Given the description of an element on the screen output the (x, y) to click on. 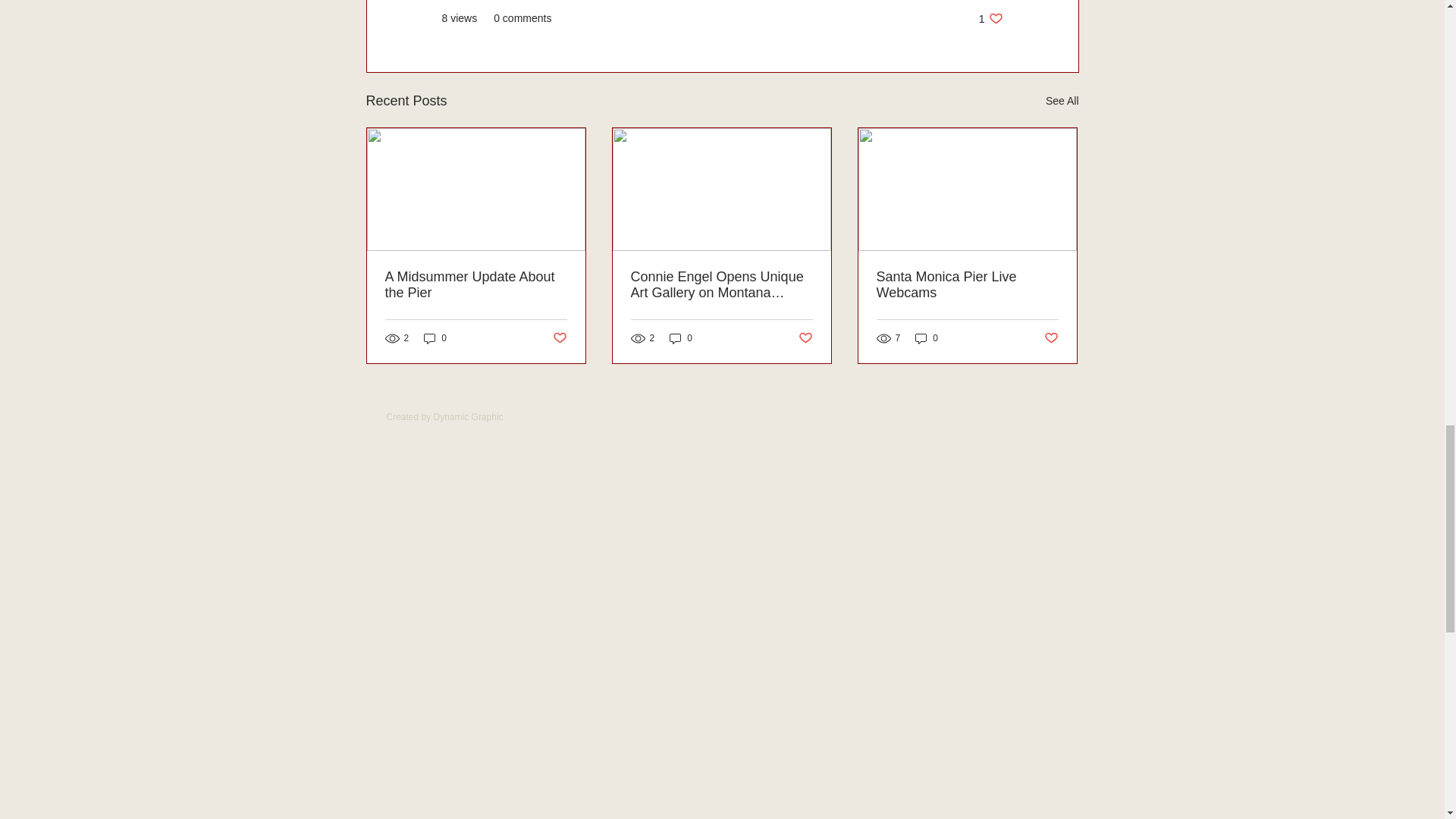
0 (926, 338)
Santa Monica Pier Live Webcams (967, 285)
0 (435, 338)
A Midsummer Update About the Pier (476, 285)
See All (1061, 101)
Post not marked as liked (1050, 338)
Post not marked as liked (804, 338)
Post not marked as liked (558, 338)
0 (990, 18)
